Given the description of an element on the screen output the (x, y) to click on. 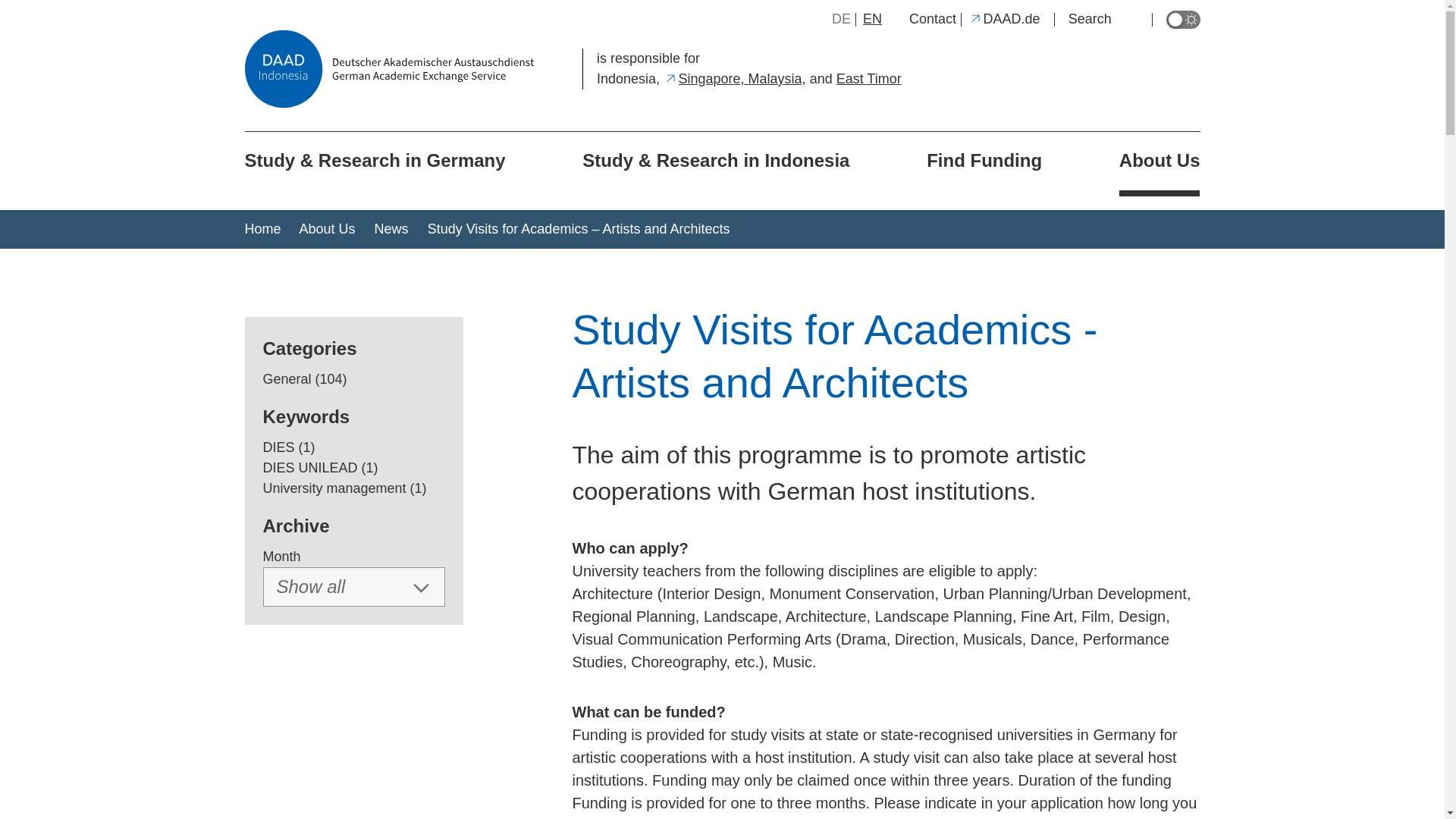
Find Funding (983, 160)
About Us (1159, 163)
Contact (932, 19)
Malaysia, (777, 78)
Contact (932, 19)
Search (1103, 19)
DAAD.de (1004, 19)
External link to www.daad.de, opens in a new window. (1004, 19)
Singapore, (705, 78)
East Timor (868, 78)
